Given the description of an element on the screen output the (x, y) to click on. 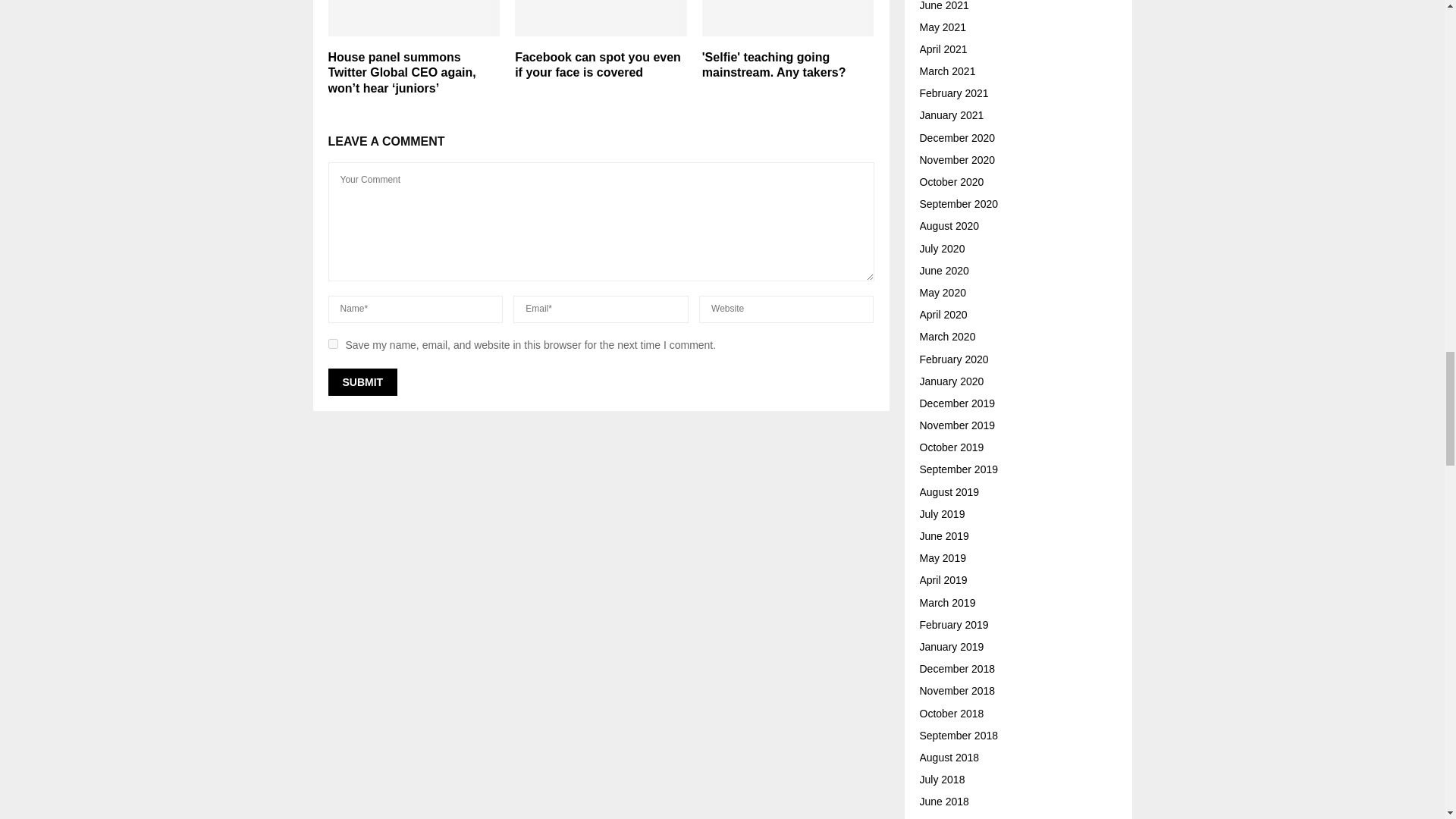
yes (332, 343)
Submit (362, 381)
